Given the description of an element on the screen output the (x, y) to click on. 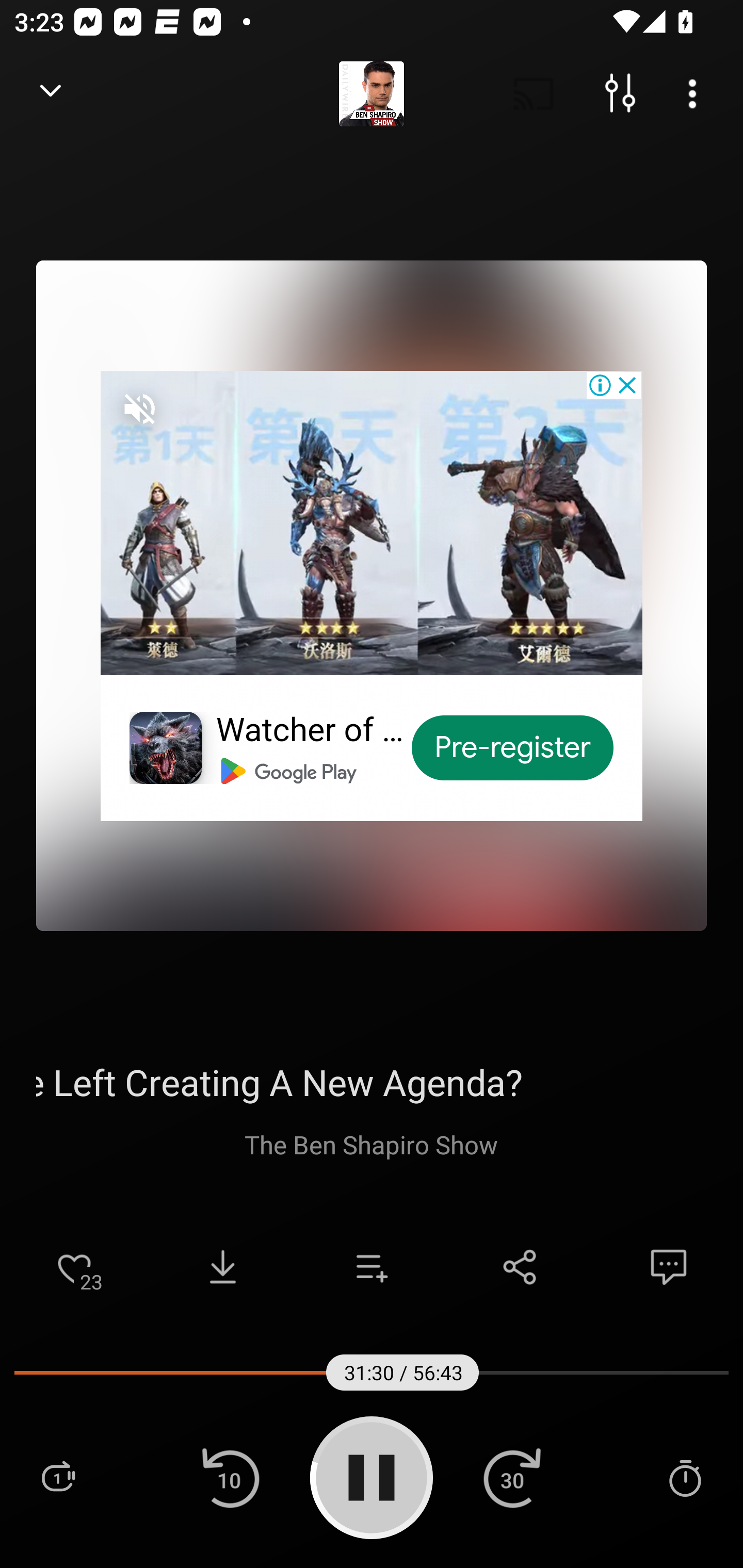
 Back (50, 94)
Watcher of … Pre-register Pre-register (371, 595)
Pre-register (512, 747)
Ep. 574 - Is The Left Creating A New Agenda? (371, 1081)
The Ben Shapiro Show (371, 1144)
Comments (668, 1266)
Add to Favorites (73, 1266)
Add to playlist (371, 1266)
Share (519, 1266)
 Playlist (57, 1477)
Sleep Timer  (684, 1477)
